Given the description of an element on the screen output the (x, y) to click on. 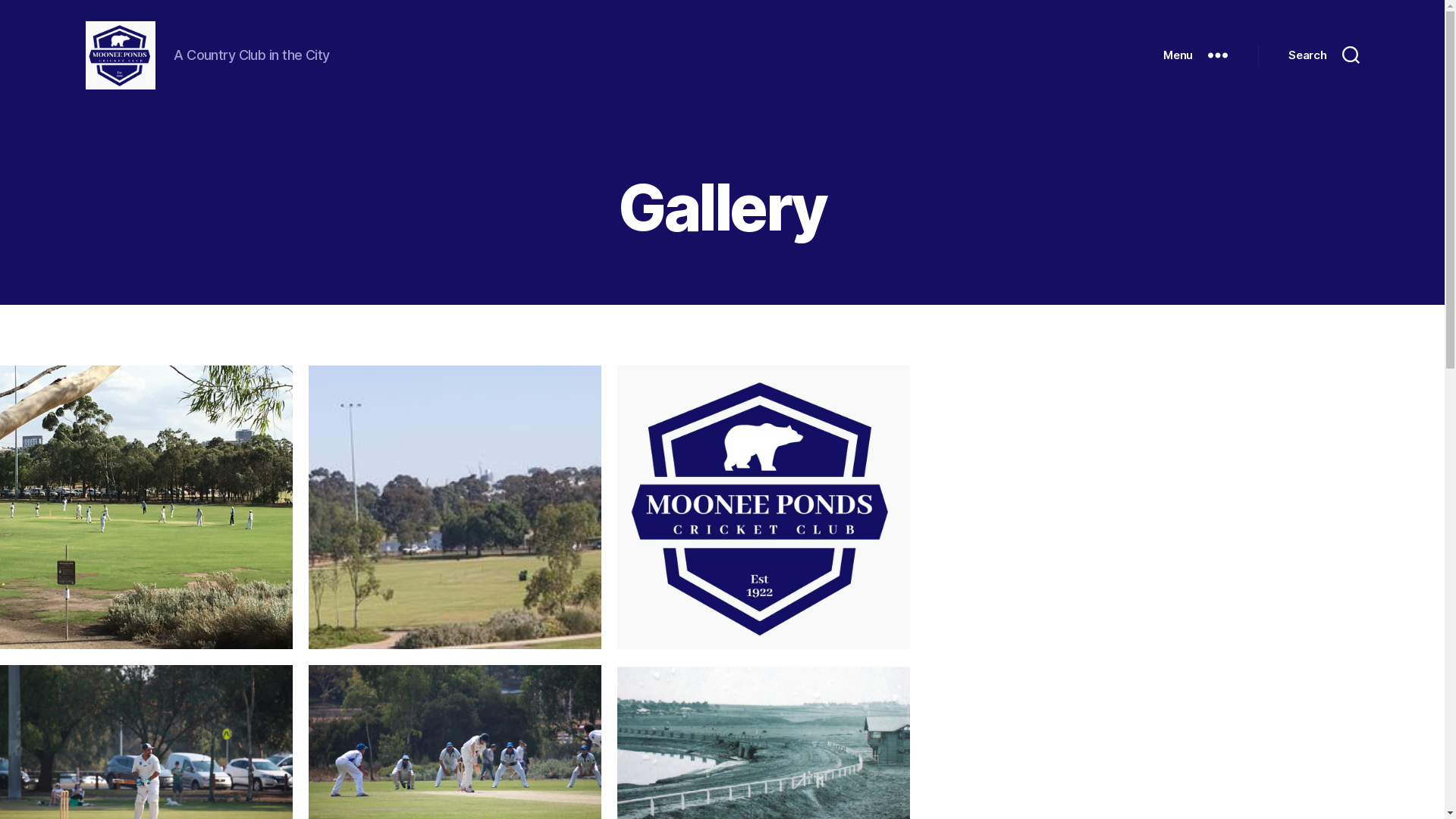
Menu Element type: text (1195, 55)
Search Element type: text (1323, 55)
